Given the description of an element on the screen output the (x, y) to click on. 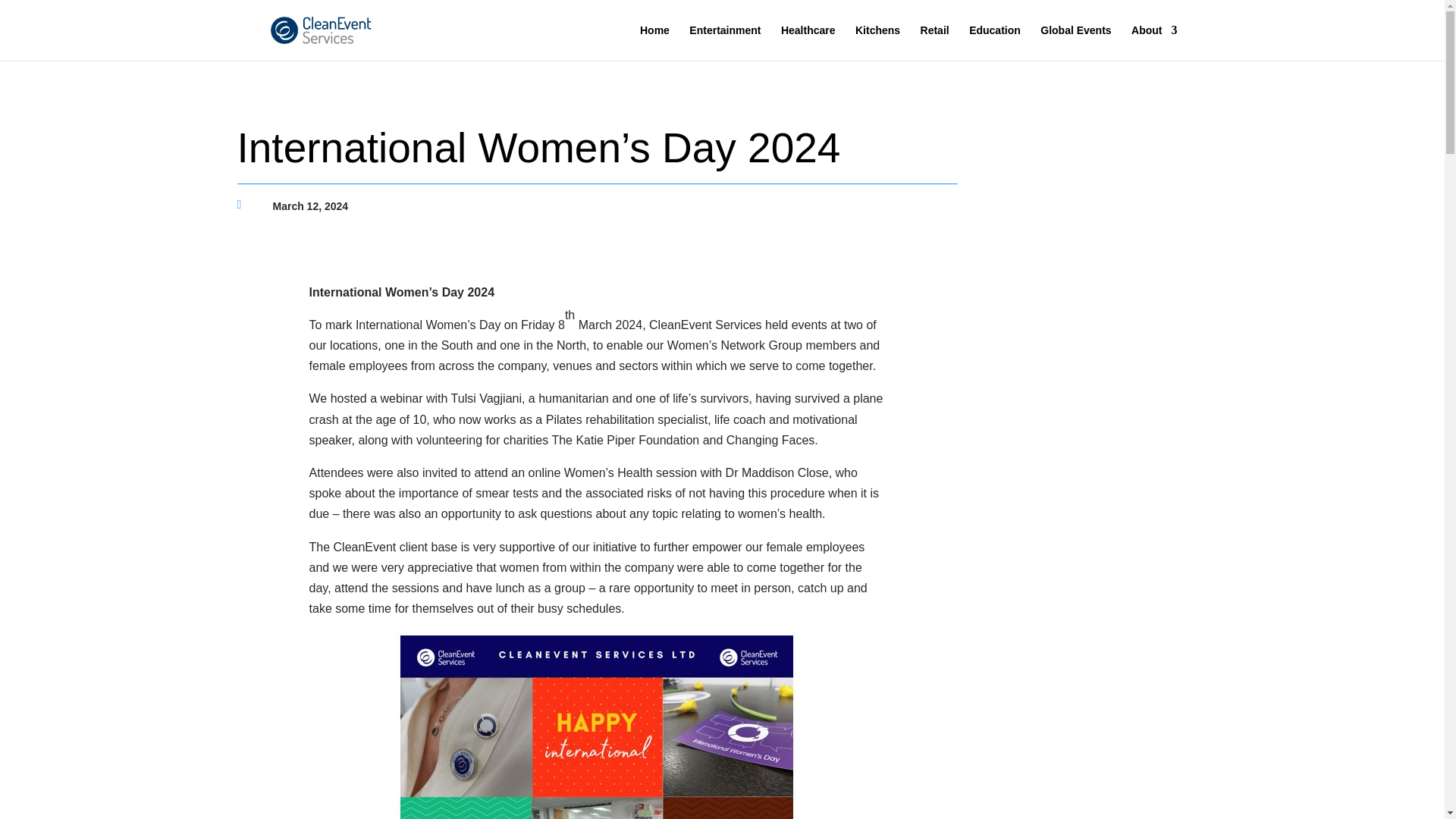
Healthcare (807, 42)
About (1153, 42)
Education (994, 42)
dayofwomen (597, 724)
Entertainment (724, 42)
Global Events (1075, 42)
Kitchens (877, 42)
